Given the description of an element on the screen output the (x, y) to click on. 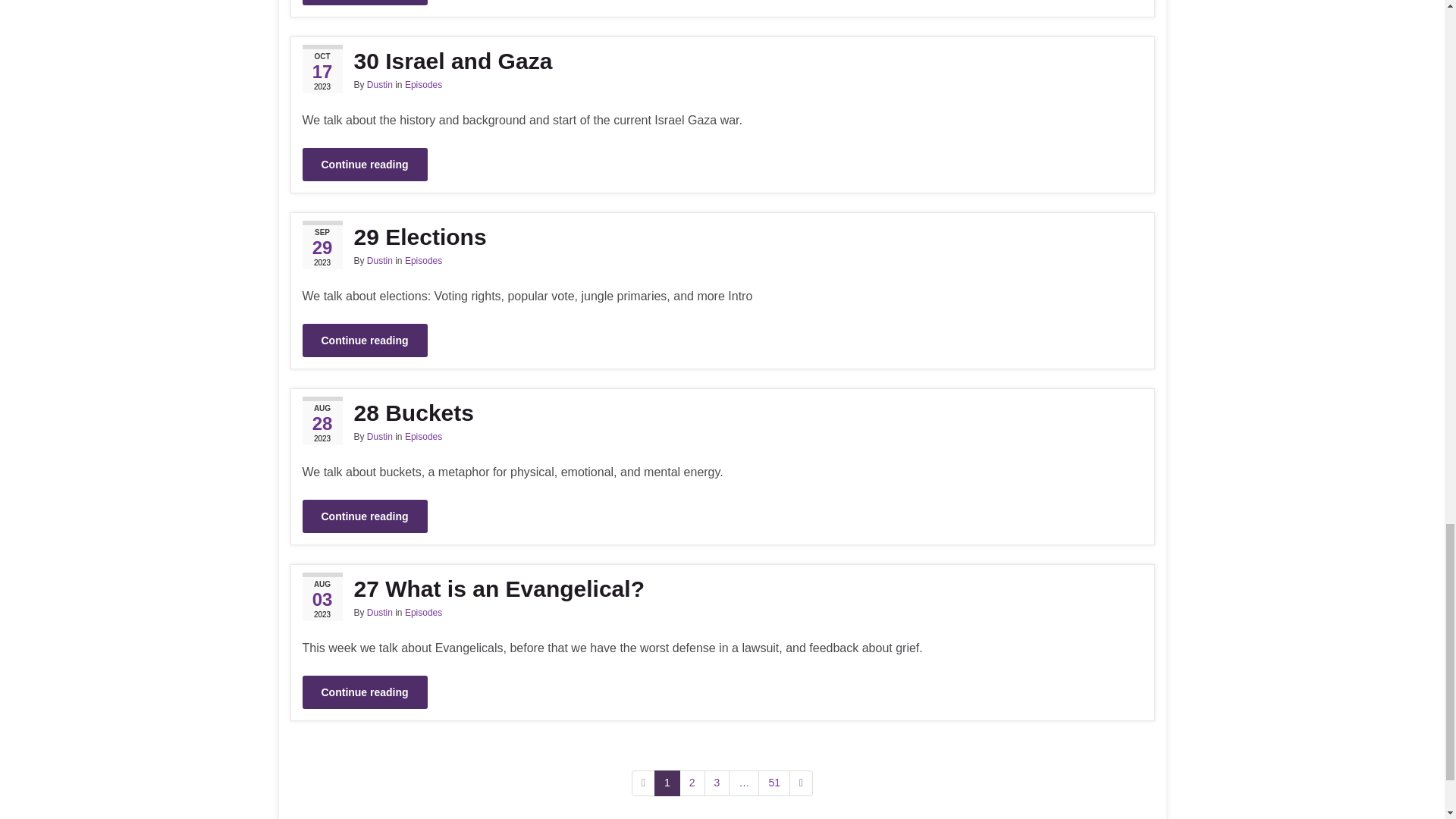
Permalink to 27 What is an Evangelical? (721, 588)
Permalink to 28 Buckets (721, 412)
Permalink to 30 Israel and Gaza (721, 61)
Permalink to 29 Elections (721, 237)
